Given the description of an element on the screen output the (x, y) to click on. 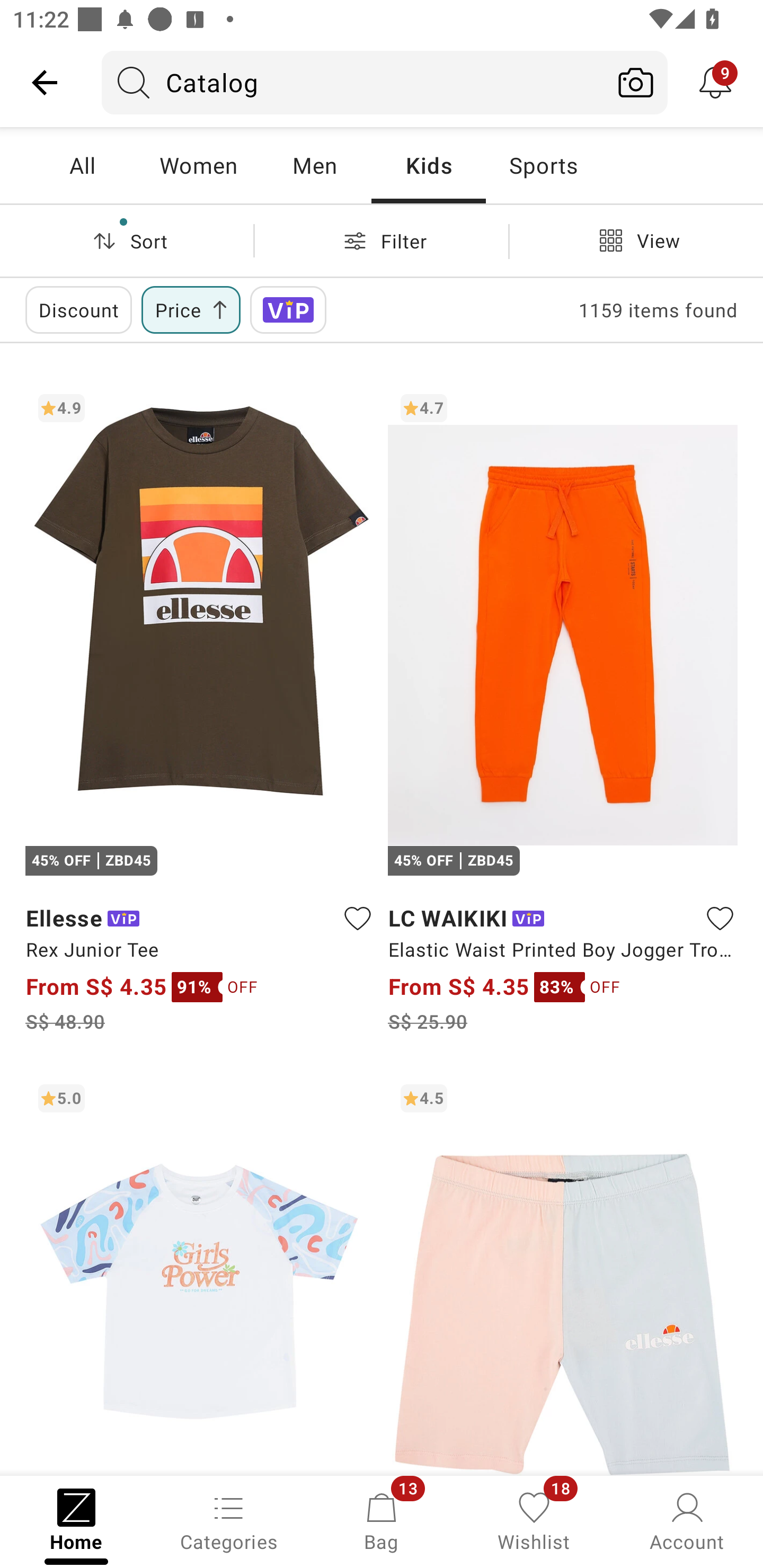
Navigate up (44, 82)
Catalog (352, 82)
All (82, 165)
Women (198, 165)
Men (314, 165)
Sports (543, 165)
Sort (126, 240)
Filter (381, 240)
View (636, 240)
Discount (78, 309)
Price (190, 309)
5.0 (200, 1272)
4.5 (562, 1272)
Categories (228, 1519)
Bag, 13 new notifications Bag (381, 1519)
Wishlist, 18 new notifications Wishlist (533, 1519)
Account (686, 1519)
